Given the description of an element on the screen output the (x, y) to click on. 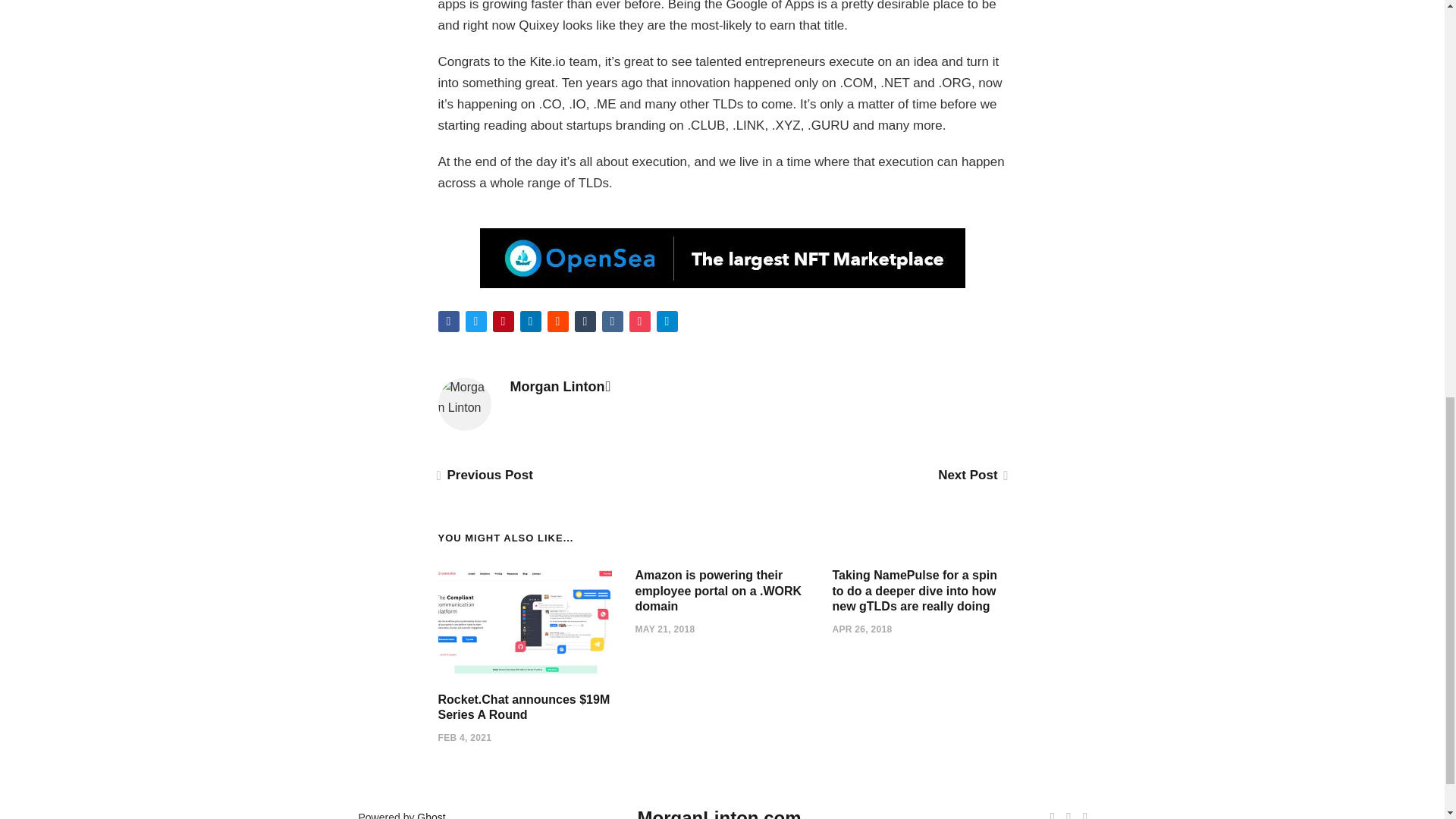
Next Post (971, 474)
Previous Post (485, 474)
